Given the description of an element on the screen output the (x, y) to click on. 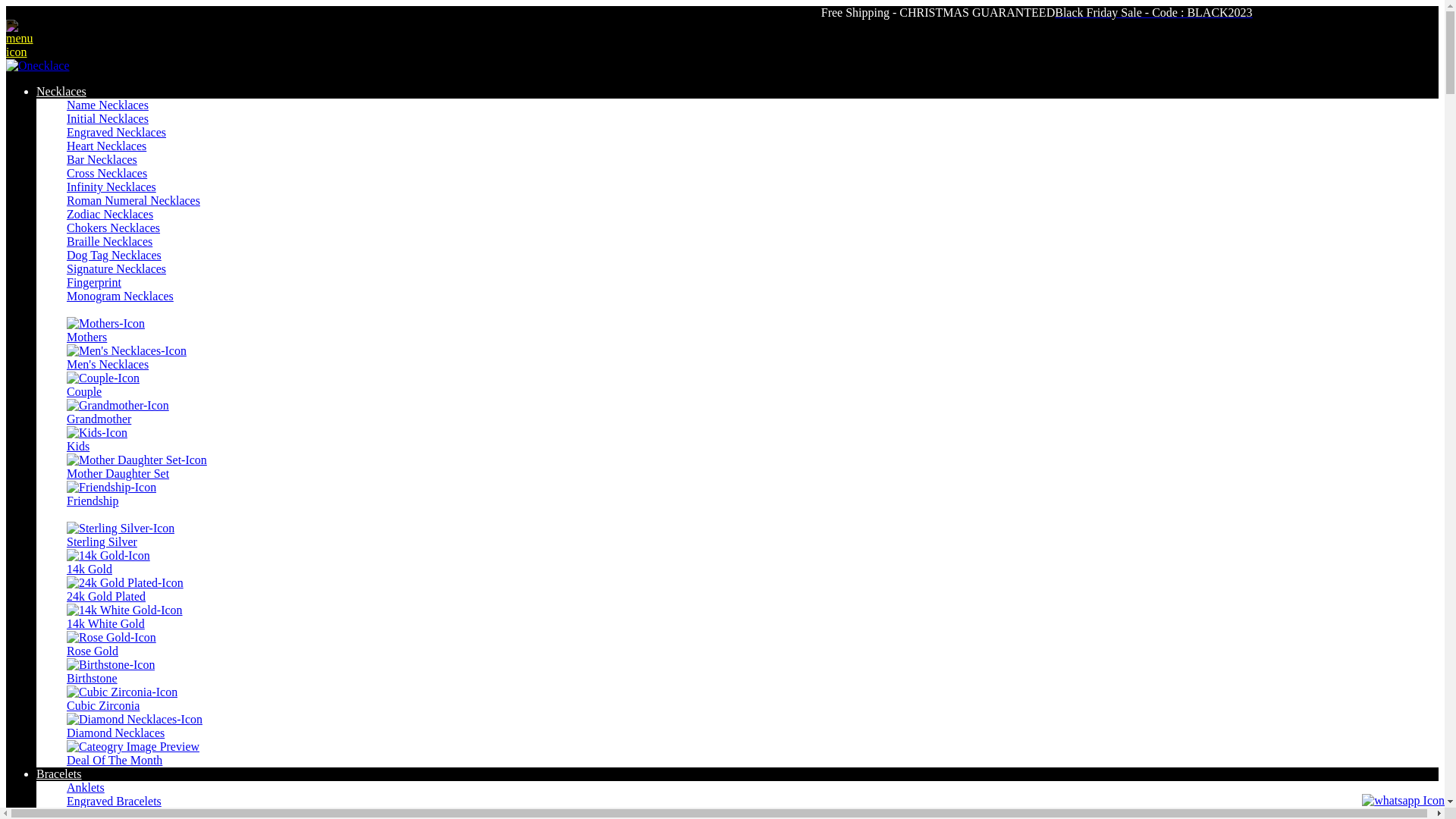
Anklets Element type: text (85, 787)
Dog Tag Necklaces Element type: text (113, 254)
Cross Necklaces Element type: text (106, 172)
Diamond Necklaces Element type: text (752, 726)
Bar Necklaces Element type: text (101, 159)
Necklaces Element type: text (737, 91)
Braille Necklaces Element type: text (109, 241)
Infinity Necklaces Element type: text (111, 186)
Mothers Element type: text (752, 330)
Zodiac Necklaces Element type: text (109, 213)
Engraved Necklaces Element type: text (116, 131)
Deal Of The Month Element type: text (752, 753)
Sterling Silver Element type: text (752, 535)
Initial Necklaces Element type: text (107, 118)
Monogram Necklaces Element type: text (119, 295)
Kids Element type: text (752, 439)
Rose Gold Element type: text (752, 644)
Engraved Bracelets Element type: text (113, 800)
Chokers Necklaces Element type: text (113, 227)
14k Gold Element type: text (752, 562)
Bracelets Element type: text (737, 774)
Cubic Zirconia Element type: text (752, 698)
Mother Daughter Set Element type: text (752, 466)
Fingerprint Element type: text (93, 282)
Roman Numeral Necklaces Element type: text (133, 200)
14k White Gold Element type: text (752, 616)
Black Friday Sale - Code : BLACK2023 Element type: text (1153, 12)
Name Necklaces Element type: text (107, 104)
Signature Necklaces Element type: text (116, 268)
Grandmother Element type: text (752, 412)
Men's Necklaces Element type: text (752, 357)
Couple Element type: text (752, 384)
Heart Necklaces Element type: text (106, 145)
24k Gold Plated Element type: text (752, 589)
Birthstone Element type: text (752, 671)
Friendship Element type: text (752, 494)
